Given the description of an element on the screen output the (x, y) to click on. 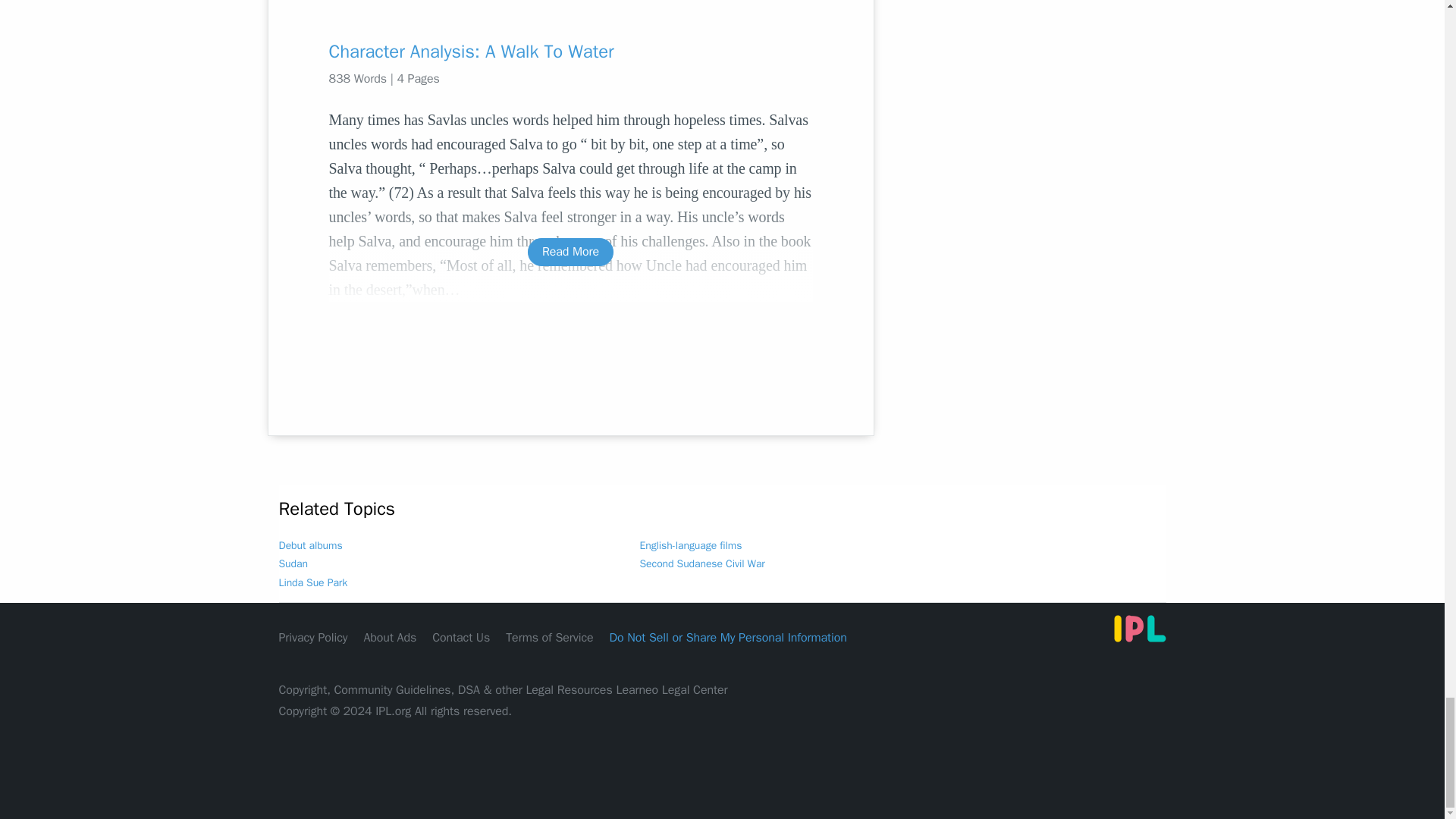
Contact Us (460, 637)
Linda Sue Park (313, 582)
Terms of Service (548, 637)
Sudan (293, 563)
Debut albums (310, 545)
English-language films (691, 545)
Privacy Policy (313, 637)
About Ads (389, 637)
Second Sudanese Civil War (702, 563)
